Given the description of an element on the screen output the (x, y) to click on. 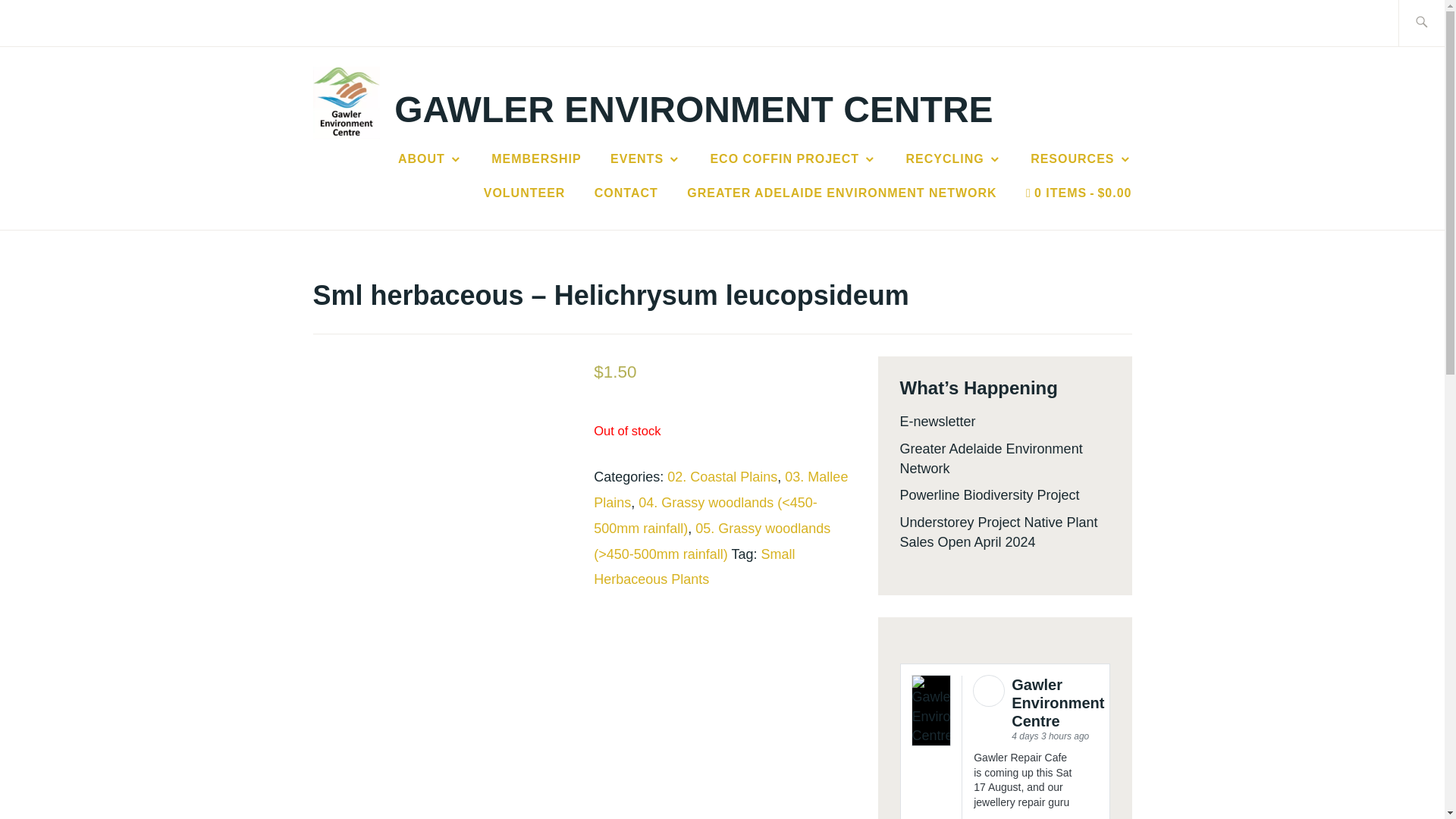
RECYCLING (953, 159)
GAWLER ENVIRONMENT CENTRE (693, 109)
ECO COFFIN PROJECT (793, 159)
Search (47, 22)
MEMBERSHIP (536, 159)
EVENTS (645, 159)
ABOUT (430, 159)
Start shopping (1078, 192)
